Given the description of an element on the screen output the (x, y) to click on. 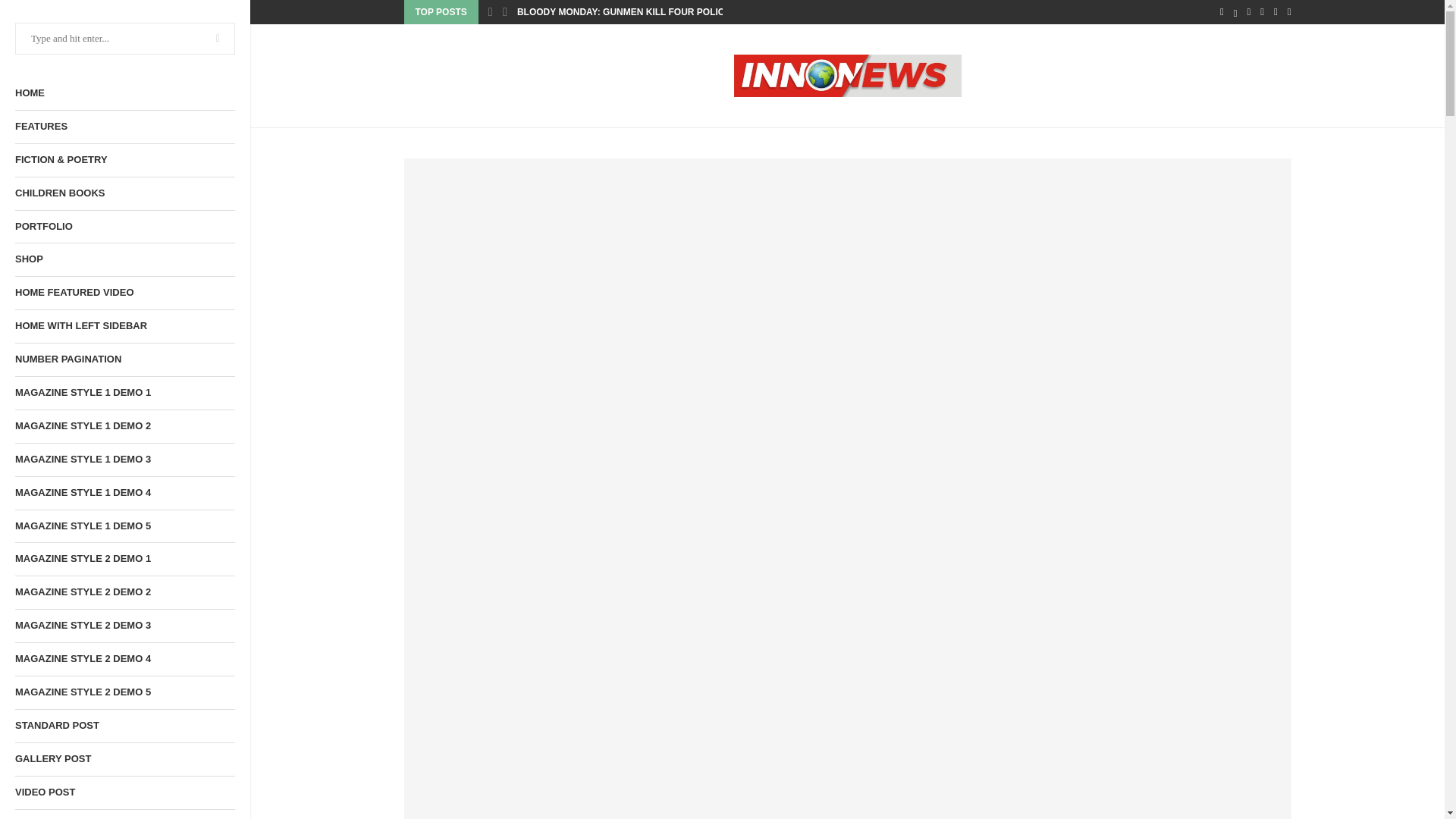
HOME (124, 92)
